Given the description of an element on the screen output the (x, y) to click on. 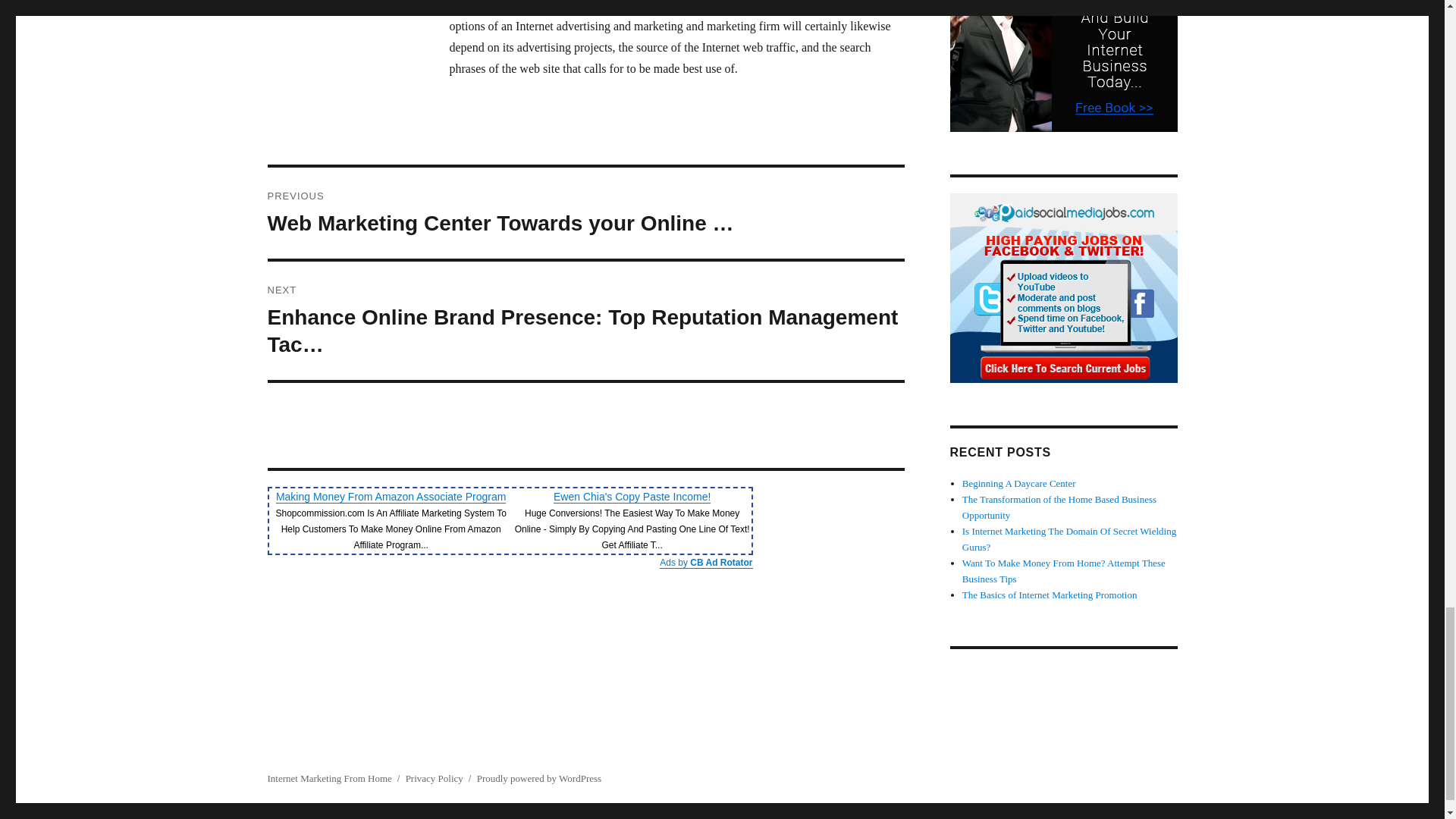
Is Internet Marketing The Domain Of Secret Wielding Gurus? (1069, 538)
Making Money From Amazon Associate Program (390, 496)
Want To Make Money From Home? Attempt These Business Tips (1064, 570)
Ewen Chia's Copy Paste Income! (631, 496)
The Basics of Internet Marketing Promotion (1049, 594)
internet marketing (585, 5)
The Transformation of the Home Based Business Opportunity (1059, 506)
Ads by CB Ad Rotator (705, 562)
Beginning A Daycare Center (1018, 482)
